Given the description of an element on the screen output the (x, y) to click on. 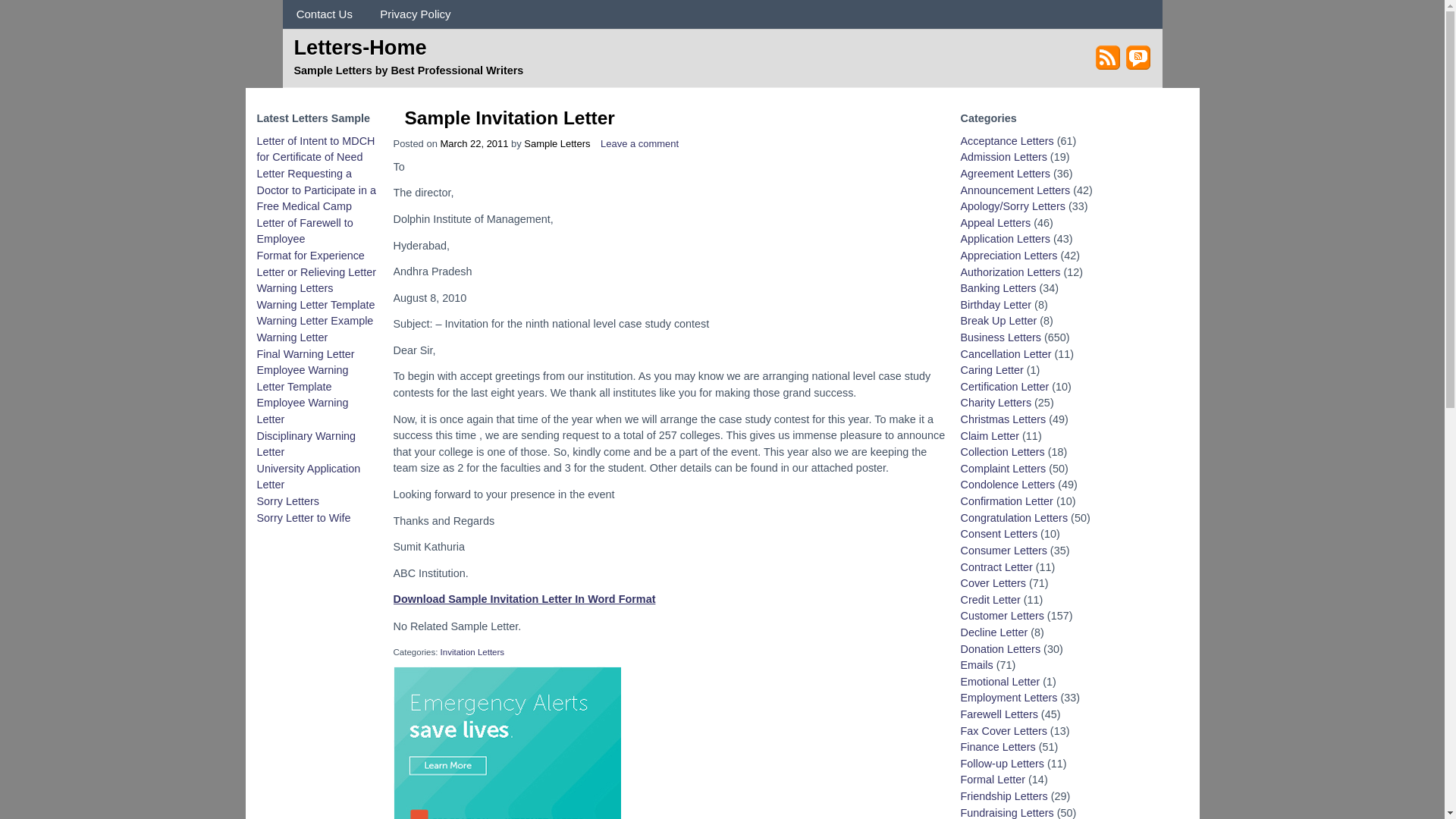
Sorry Letters (287, 500)
Sorry Letter to Wife (303, 517)
Letters-Home (360, 46)
Permalink to Sample Invitation Letter (509, 117)
Download Sample Invitation Letter In Word Format (524, 598)
Leave a comment (638, 143)
Contact Us (324, 14)
Sample Invitation Letter (509, 117)
Admission Letters (1002, 156)
March 22, 2011 (473, 143)
